Given the description of an element on the screen output the (x, y) to click on. 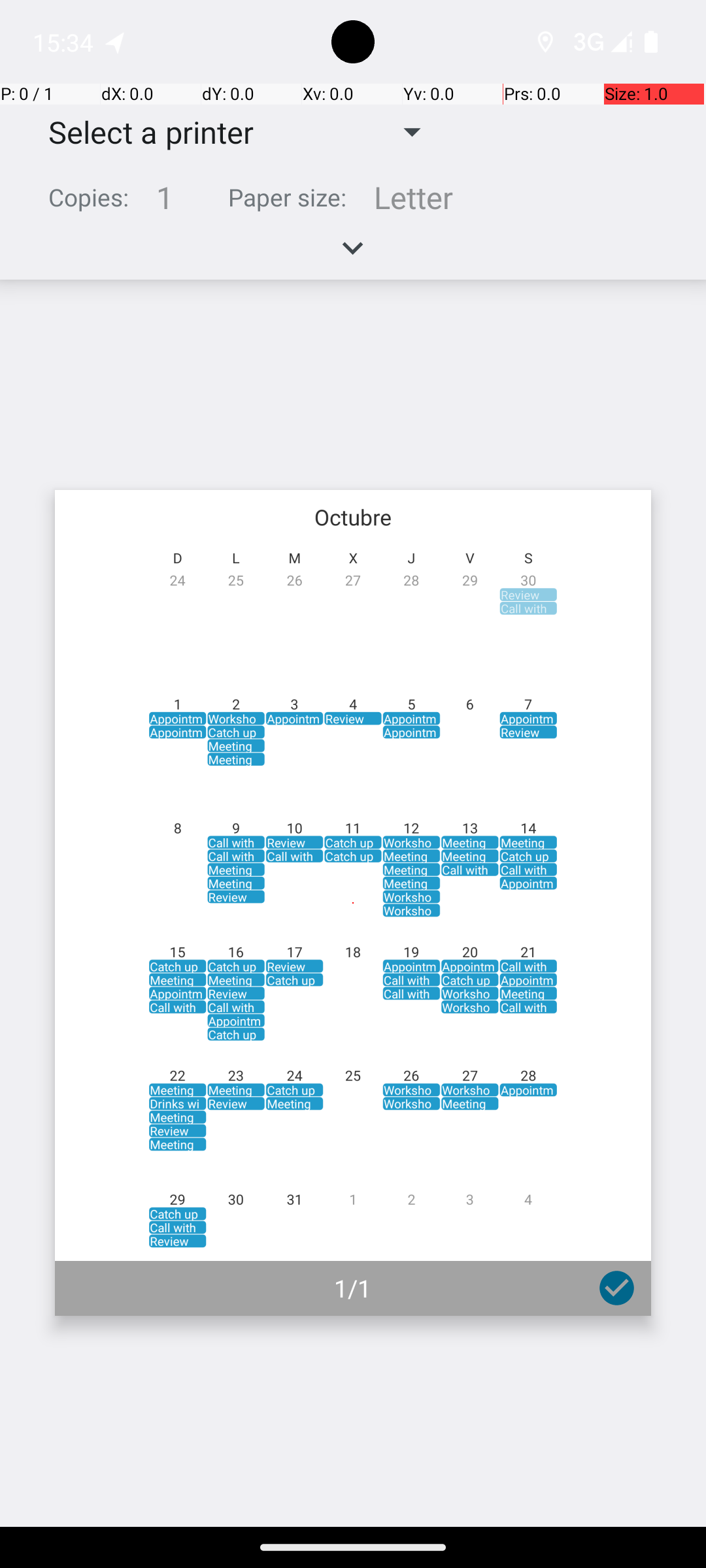
Expand handle Element type: android.widget.FrameLayout (353, 255)
Summary, copies 1, paper size Letter Element type: android.widget.LinearLayout (353, 202)
Select a printer Element type: android.widget.TextView (140, 131)
Copies: Element type: android.widget.TextView (88, 196)
Paper size: Element type: android.widget.TextView (287, 196)
Letter Element type: android.widget.TextView (413, 196)
Page 1 of 1 Element type: android.widget.CompoundButton (352, 902)
1/1 Element type: android.widget.TextView (352, 1287)
